Given the description of an element on the screen output the (x, y) to click on. 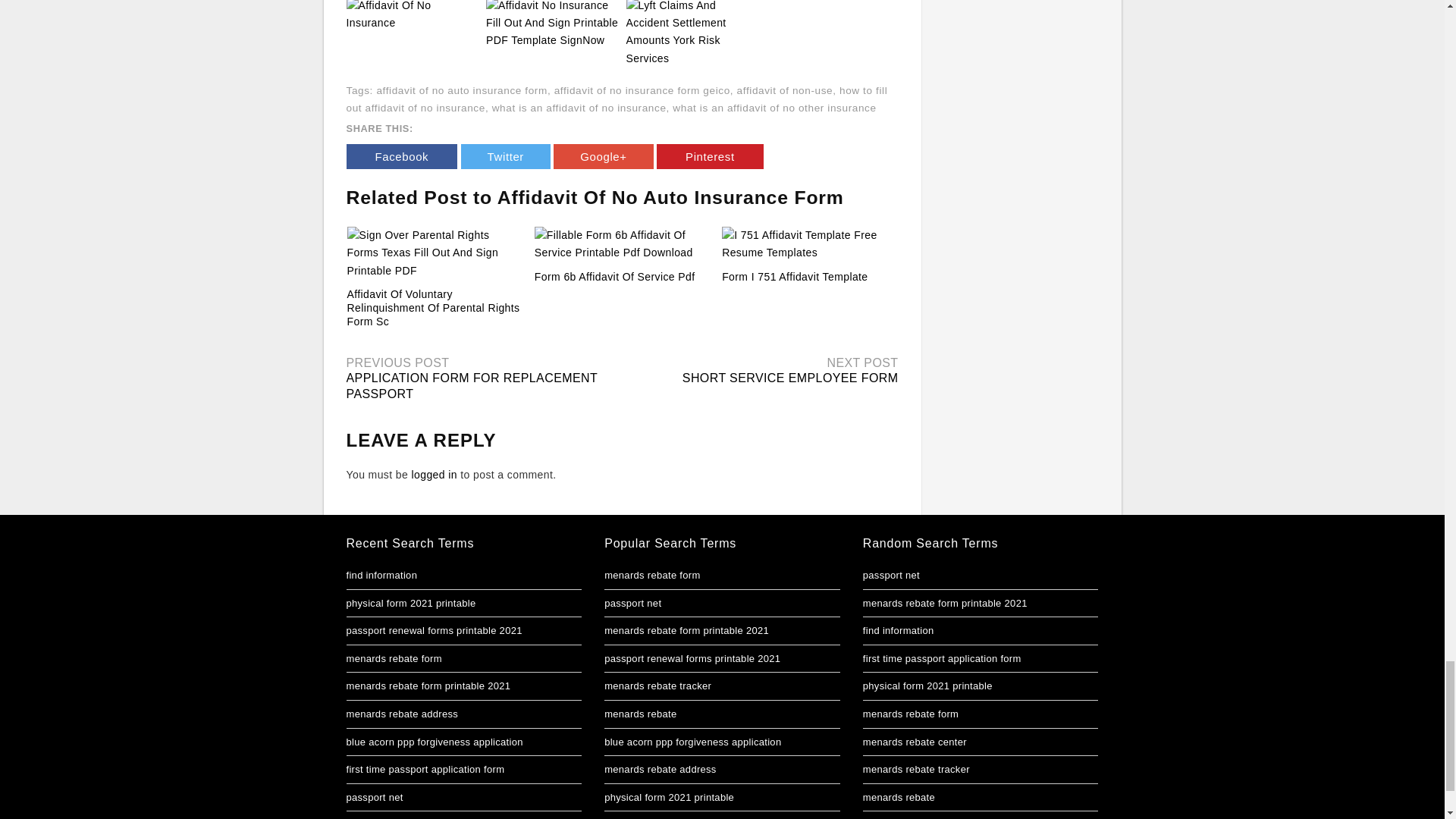
how to fill out affidavit of no insurance (616, 99)
affidavit of no auto insurance form (461, 90)
affidavit of non-use (784, 90)
what is an affidavit of no other insurance (774, 107)
SHORT SERVICE EMPLOYEE FORM (790, 377)
Affidavit Of No Insurance (412, 13)
Form I 751 Affidavit Template (794, 276)
Twitter (505, 156)
Pinterest (709, 156)
Form 6b Affidavit Of Service Pdf (614, 276)
what is an affidavit of no insurance (579, 107)
